Given the description of an element on the screen output the (x, y) to click on. 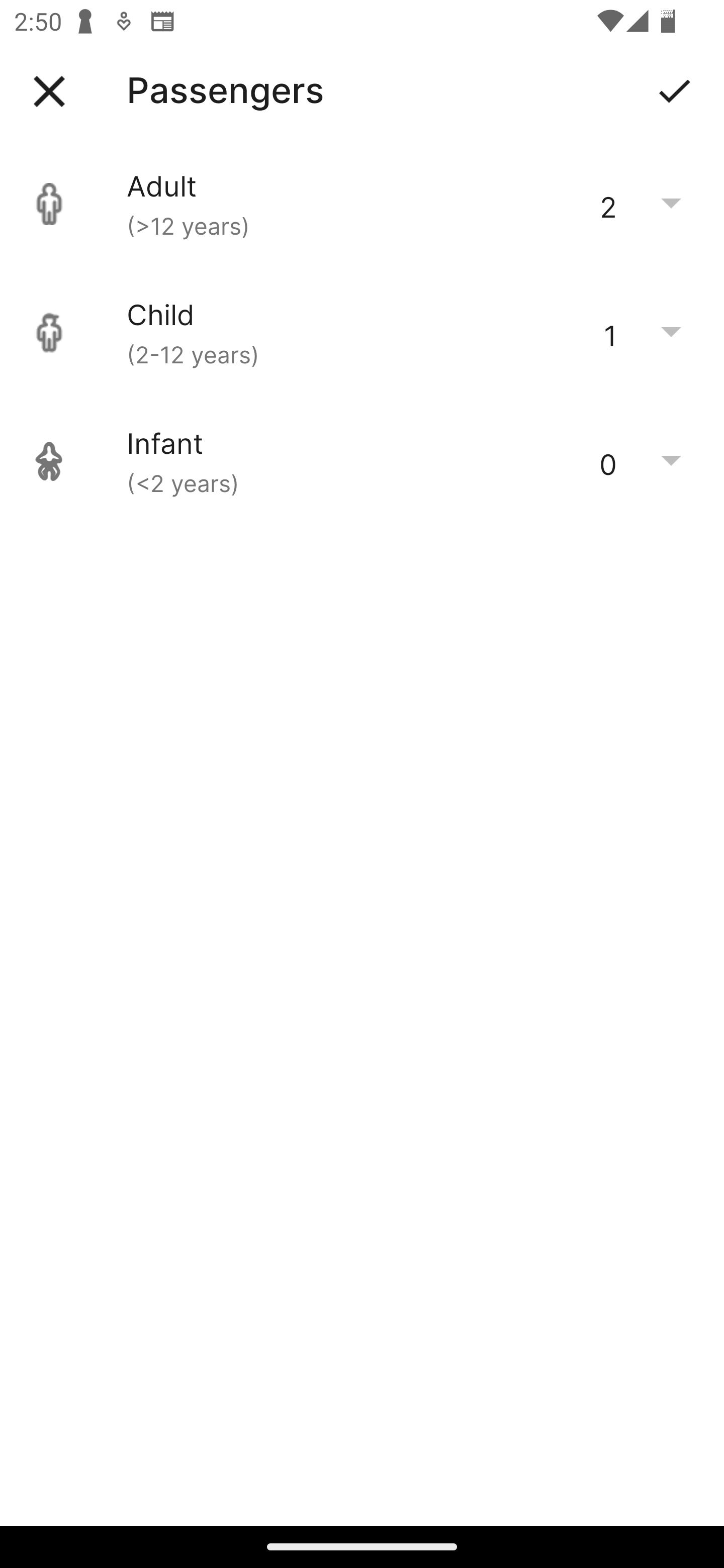
Adult (>12 years) 2 (362, 204)
Child (2-12 years) 1 (362, 332)
Infant (<2 years) 0 (362, 461)
